Given the description of an element on the screen output the (x, y) to click on. 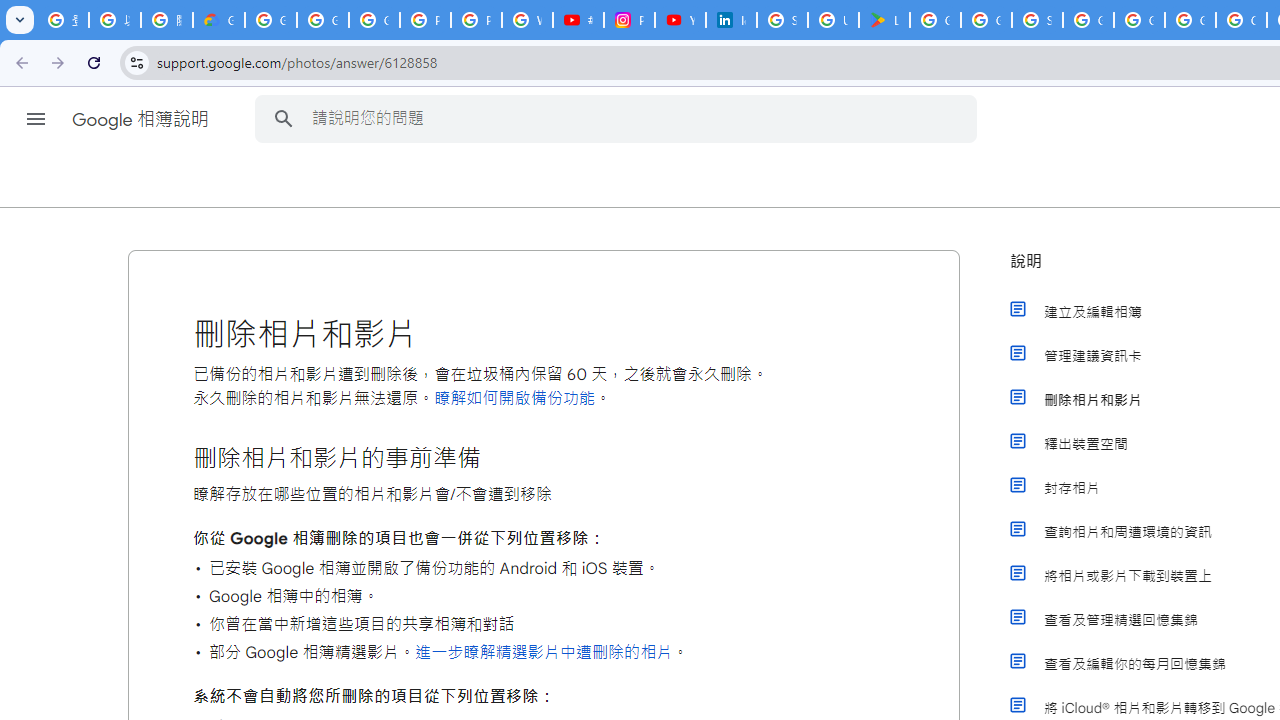
Google Workspace - Specific Terms (986, 20)
Sign in - Google Accounts (781, 20)
